Given the description of an element on the screen output the (x, y) to click on. 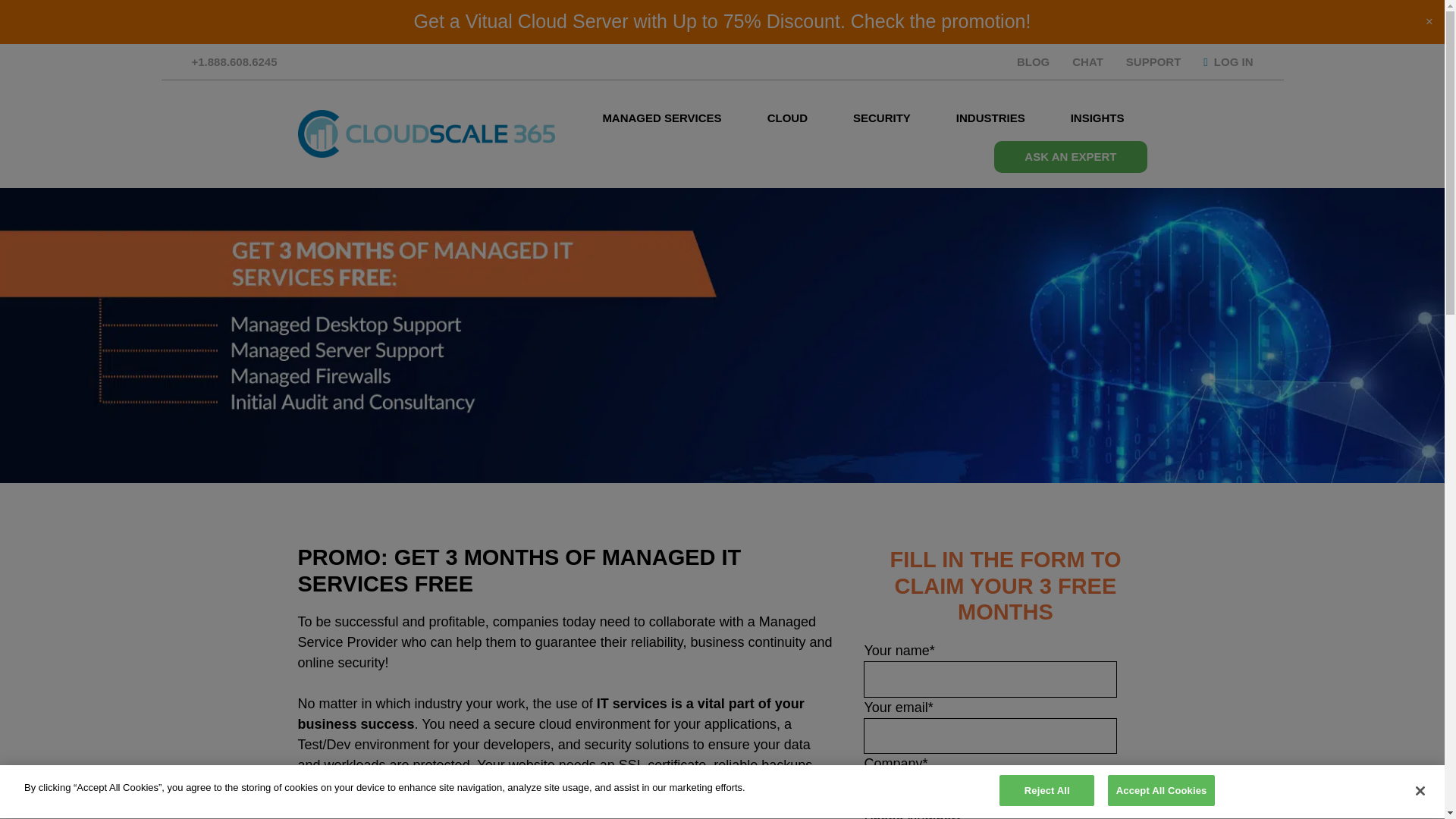
INDUSTRIES (990, 117)
INSIGHTS (1097, 117)
CLOUD (786, 117)
ASK AN EXPERT (1070, 156)
SUPPORT (1152, 60)
CHAT (1087, 60)
BLOG (1032, 60)
LOG IN (1228, 60)
SECURITY (881, 117)
MANAGED SERVICES (661, 117)
